Given the description of an element on the screen output the (x, y) to click on. 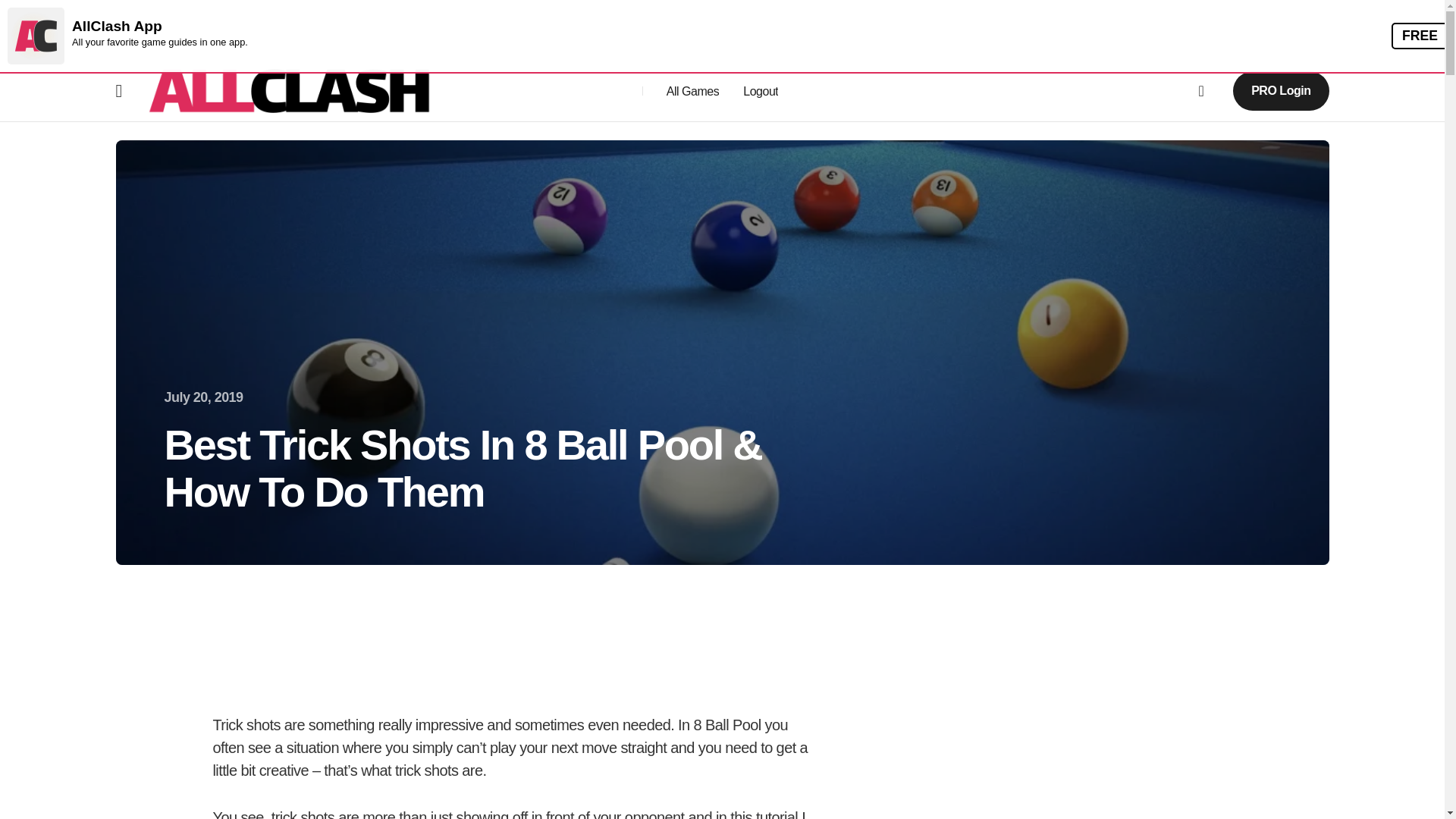
PRO Login (1280, 90)
